Given the description of an element on the screen output the (x, y) to click on. 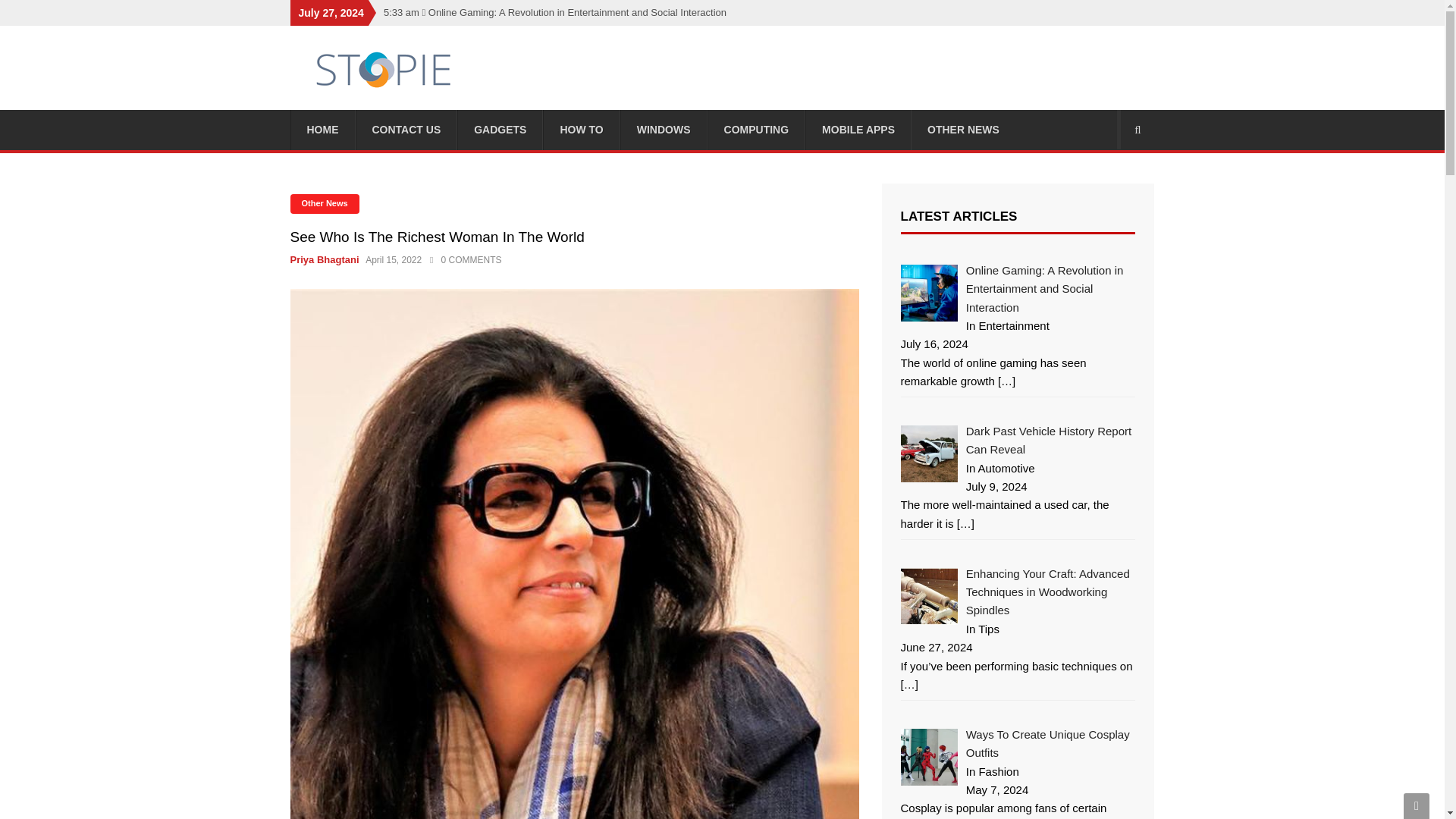
WINDOWS (663, 129)
HOW TO (581, 129)
COMPUTING (756, 129)
Other News (323, 203)
OTHER NEWS (962, 129)
CONTACT US (406, 129)
GADGETS (500, 129)
MOBILE APPS (858, 129)
Posts by Priya Bhagtani (325, 259)
0 COMMENTS (465, 259)
Priya Bhagtani (325, 259)
HOME (322, 129)
